Given the description of an element on the screen output the (x, y) to click on. 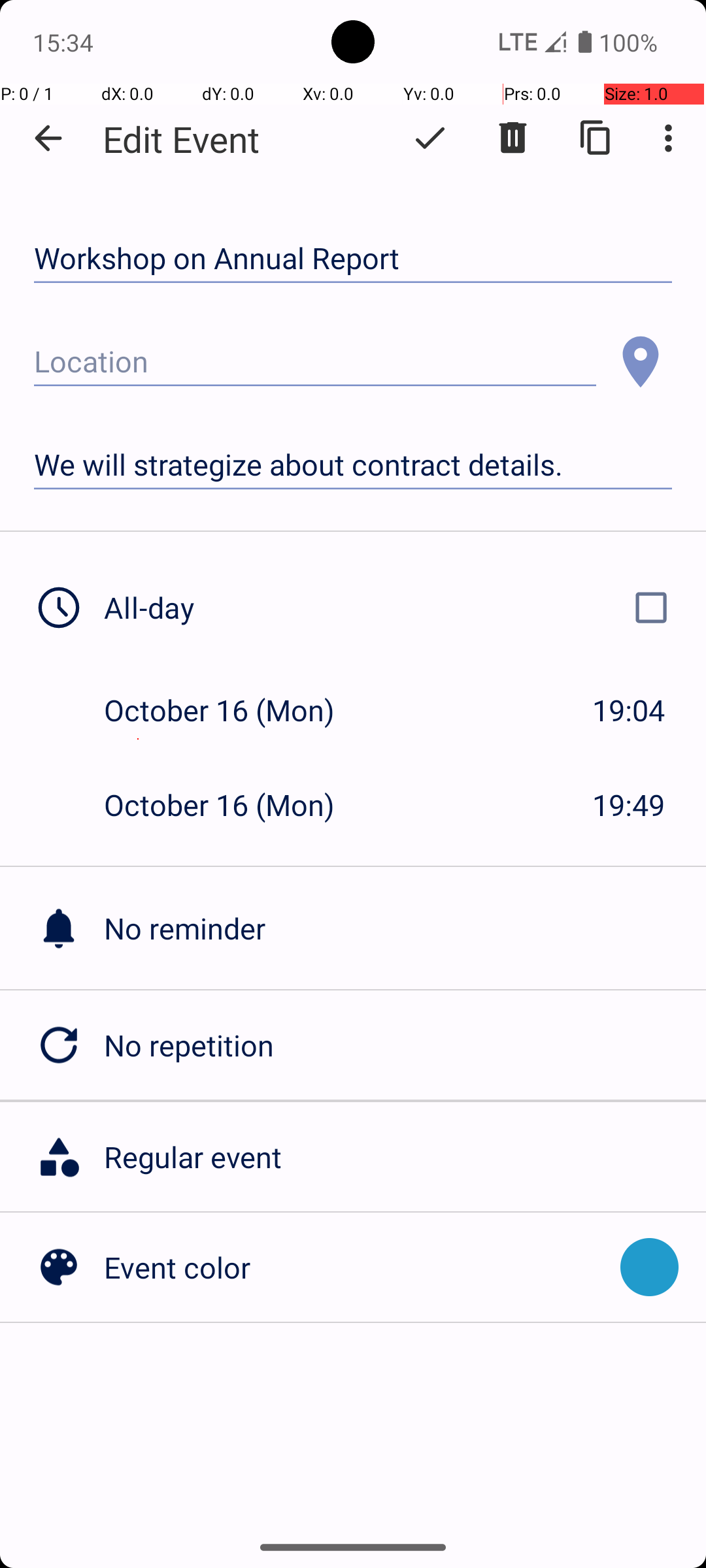
We will strategize about contract details. Element type: android.widget.EditText (352, 465)
19:04 Element type: android.widget.TextView (628, 709)
19:49 Element type: android.widget.TextView (628, 804)
